Given the description of an element on the screen output the (x, y) to click on. 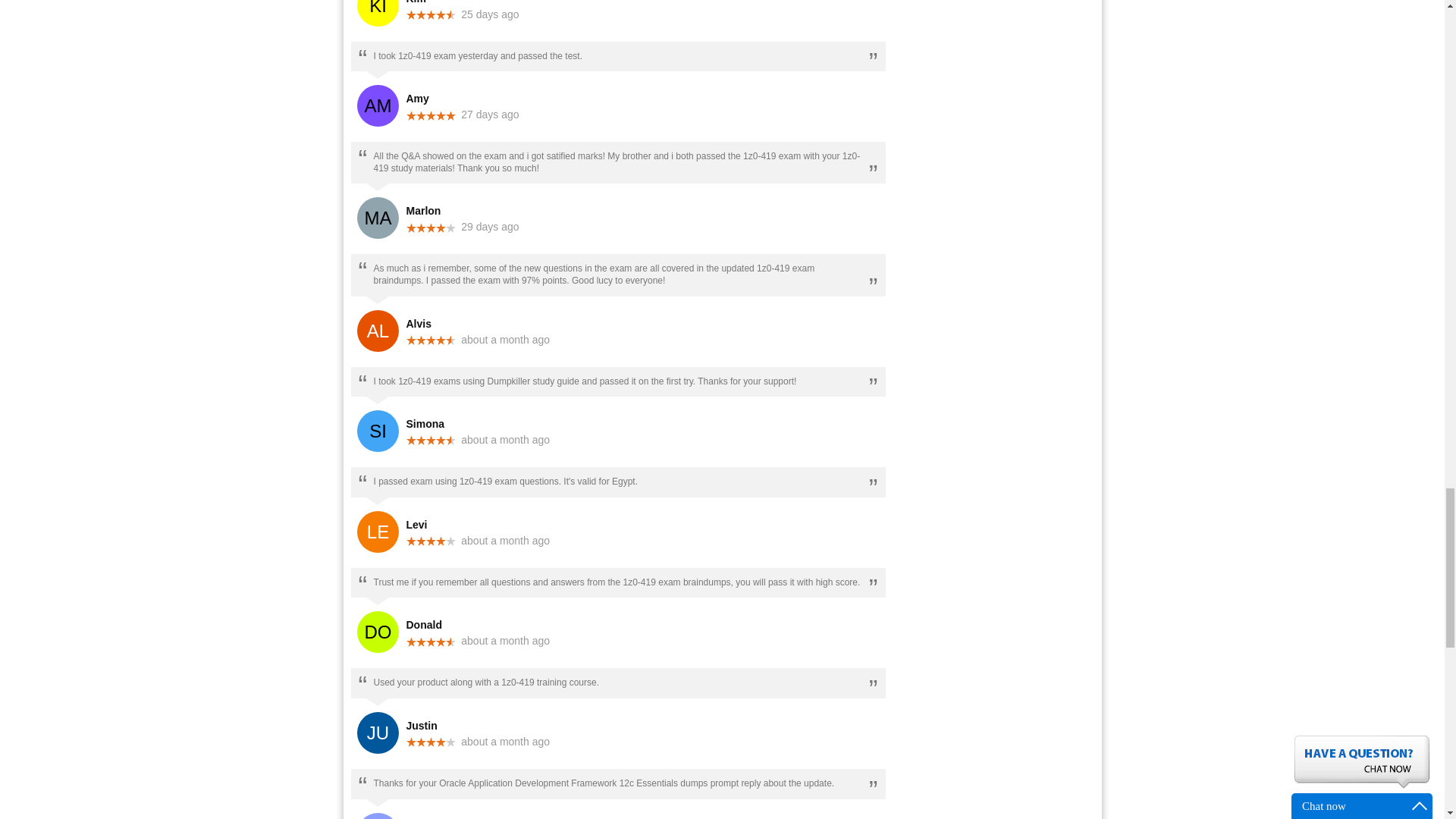
Jun 24, 2024 (489, 14)
Jun 20, 2024 (489, 226)
Jun 22, 2024 (489, 114)
Jun 17, 2024 (505, 339)
